Given the description of an element on the screen output the (x, y) to click on. 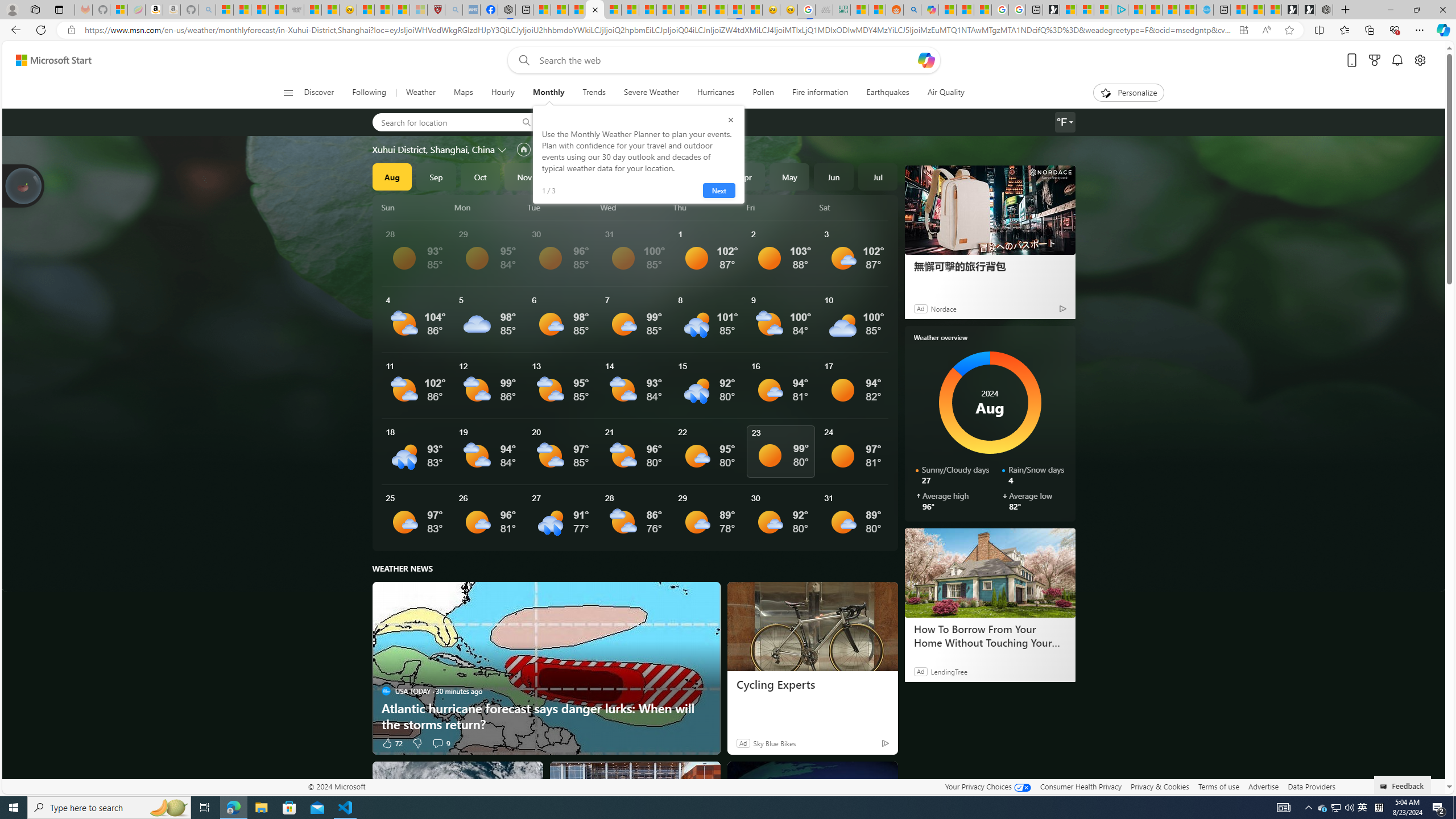
See More Details (853, 517)
Maps (462, 92)
Terms of use (1218, 786)
14 Common Myths Debunked By Scientific Facts (665, 9)
Air Quality (945, 92)
Your Privacy Choices (987, 786)
Dec (568, 176)
Open navigation menu (287, 92)
Change location (503, 149)
